Given the description of an element on the screen output the (x, y) to click on. 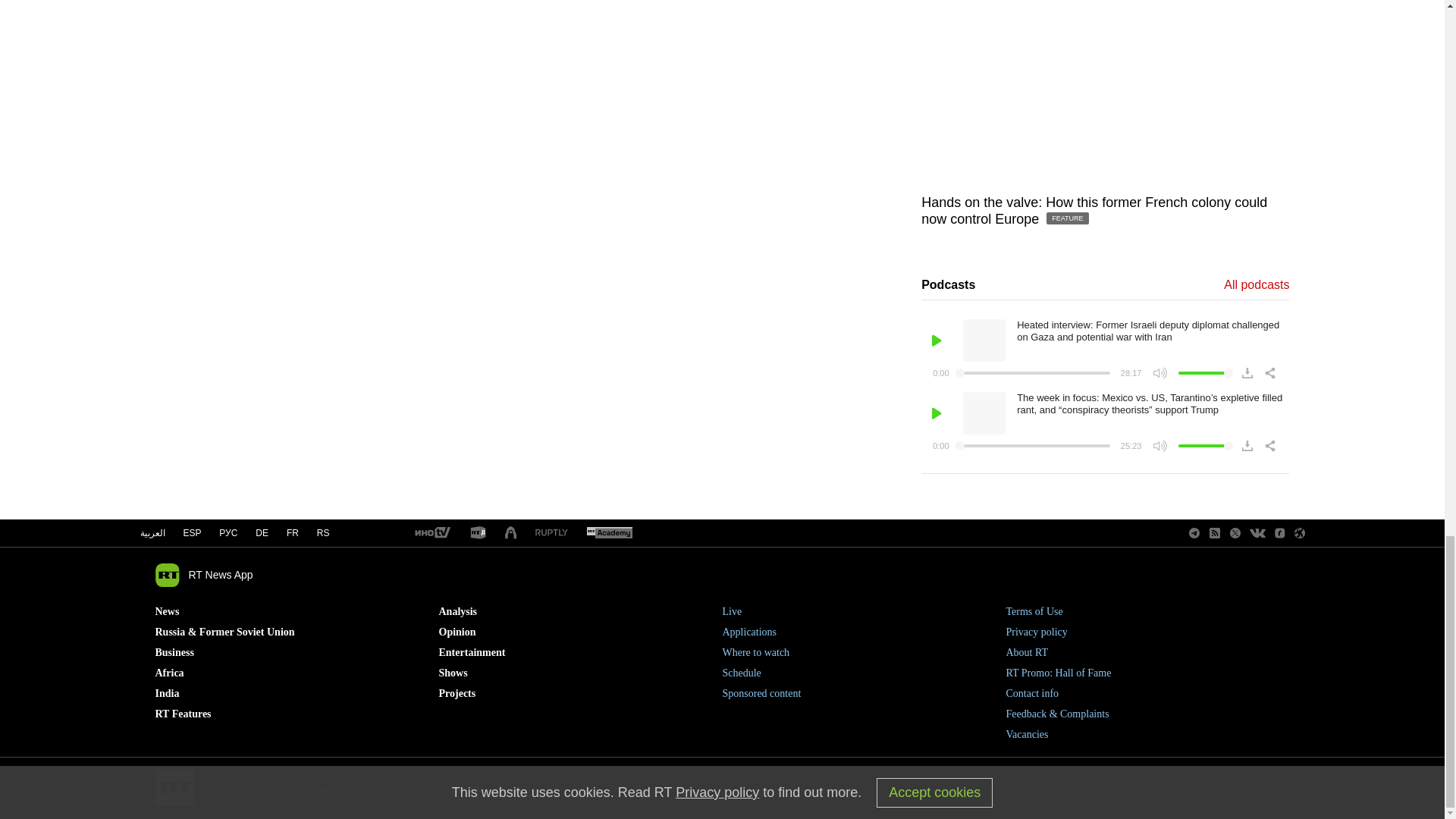
RT  (608, 533)
RT  (431, 533)
RT  (478, 533)
RT  (551, 533)
